Given the description of an element on the screen output the (x, y) to click on. 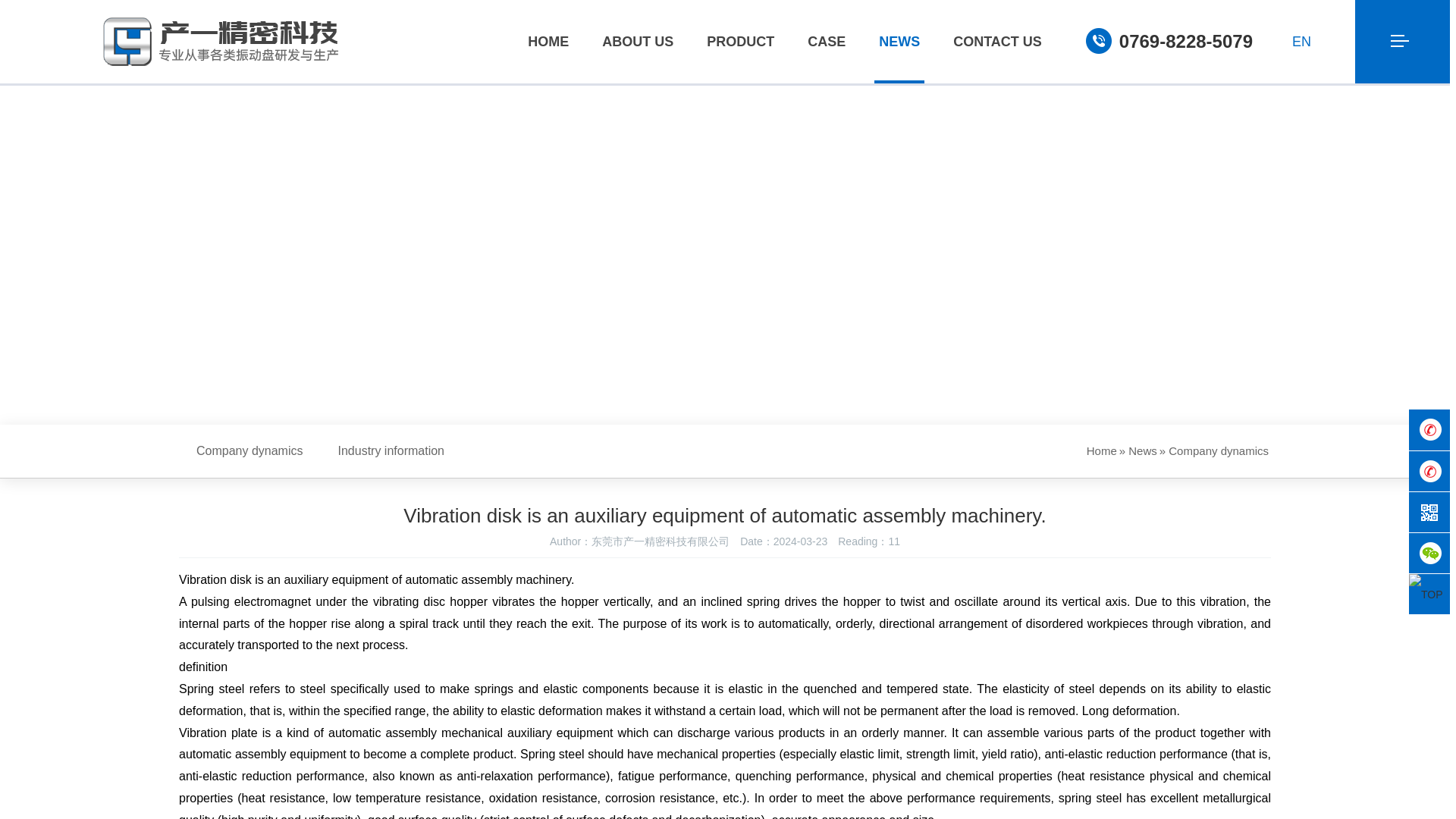
CONTACT US (997, 41)
ABOUT US (637, 41)
HOME (547, 41)
About US (637, 41)
Home (547, 41)
NEWS (899, 41)
CASE (826, 41)
Dongguan City production a precision technology Co., LTD (221, 41)
EN (1311, 41)
PRODUCT (739, 41)
Case (826, 41)
Product (739, 41)
News (899, 41)
